Given the description of an element on the screen output the (x, y) to click on. 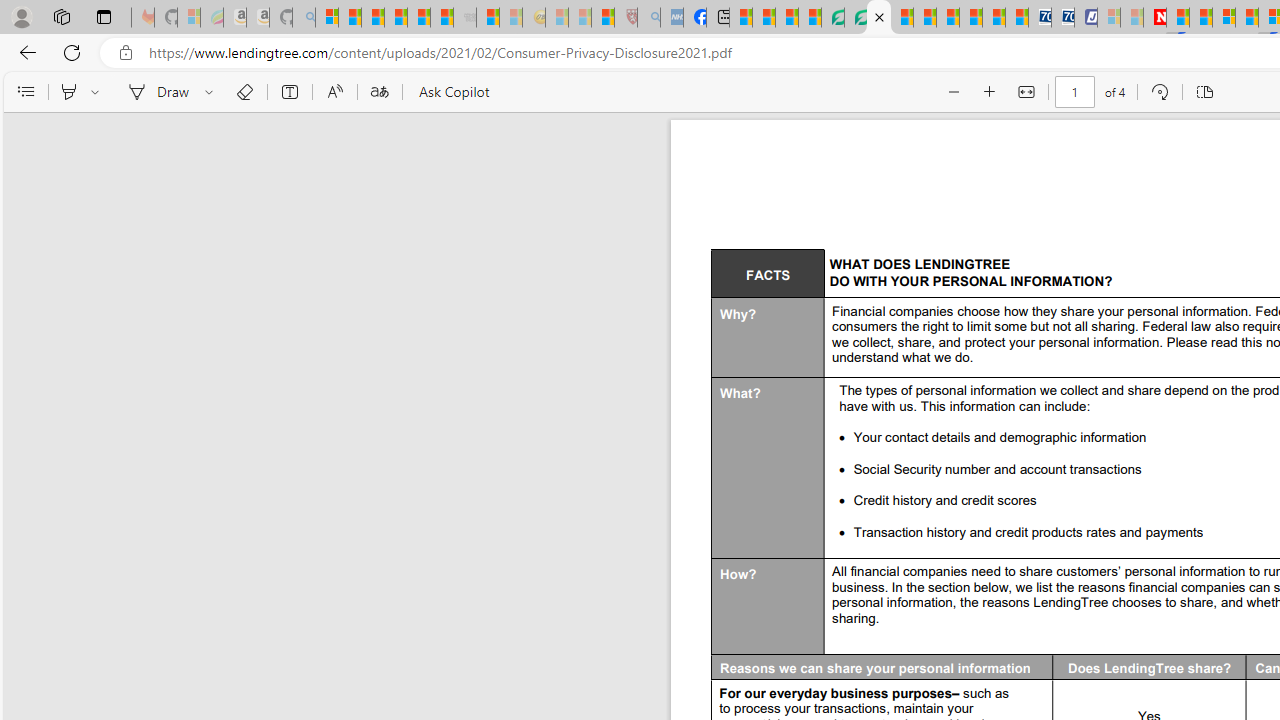
Read aloud (334, 92)
Fit to width (Ctrl+\) (1025, 92)
Cheap Hotels - Save70.com (1062, 17)
World - MSN (786, 17)
Terms of Use Agreement (855, 17)
Page view (1204, 92)
